Given the description of an element on the screen output the (x, y) to click on. 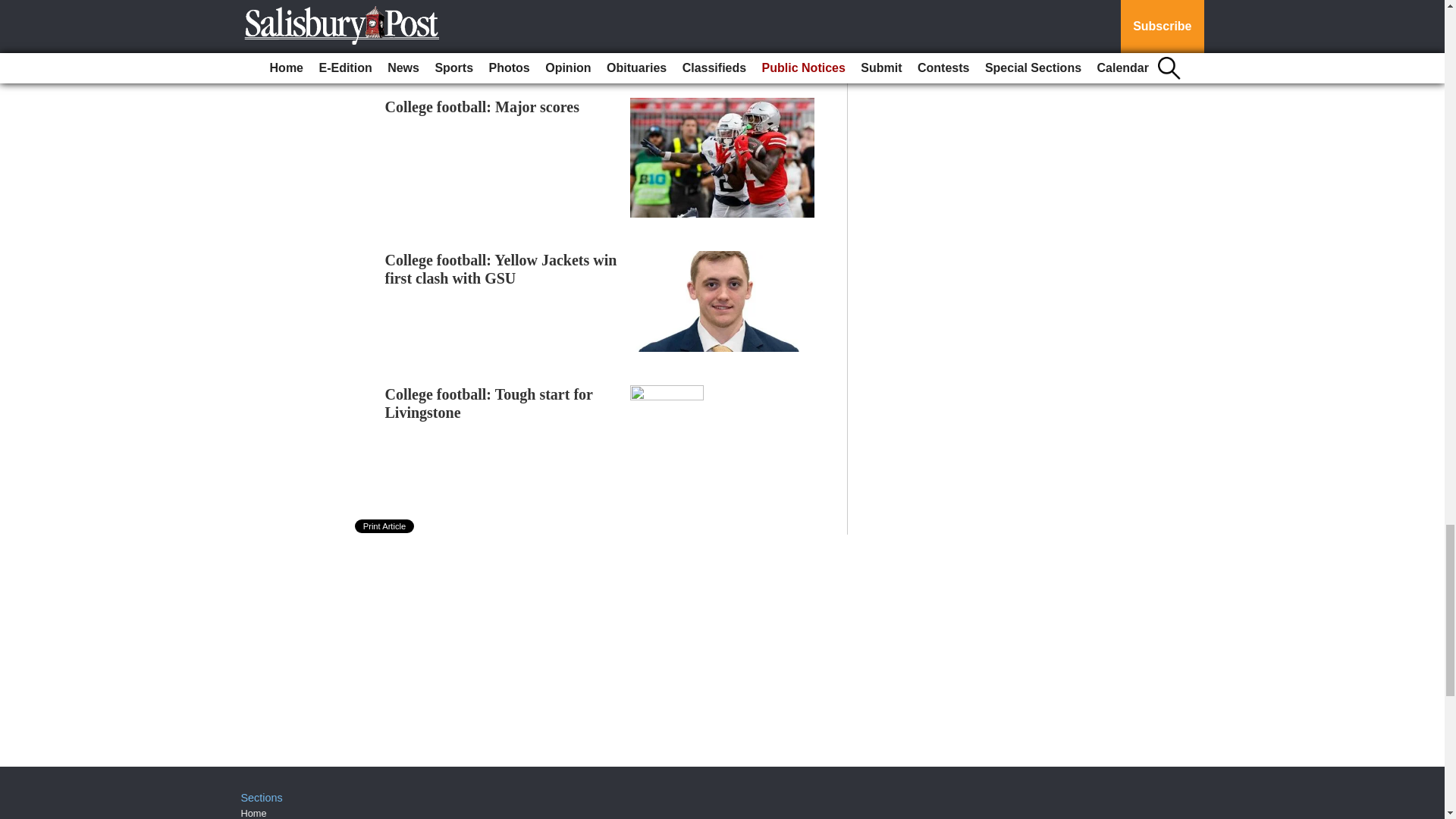
College football: Major scores (482, 106)
College football: Yellow Jackets win first clash with GSU (501, 268)
College football: Tough start for Livingstone (488, 402)
